Given the description of an element on the screen output the (x, y) to click on. 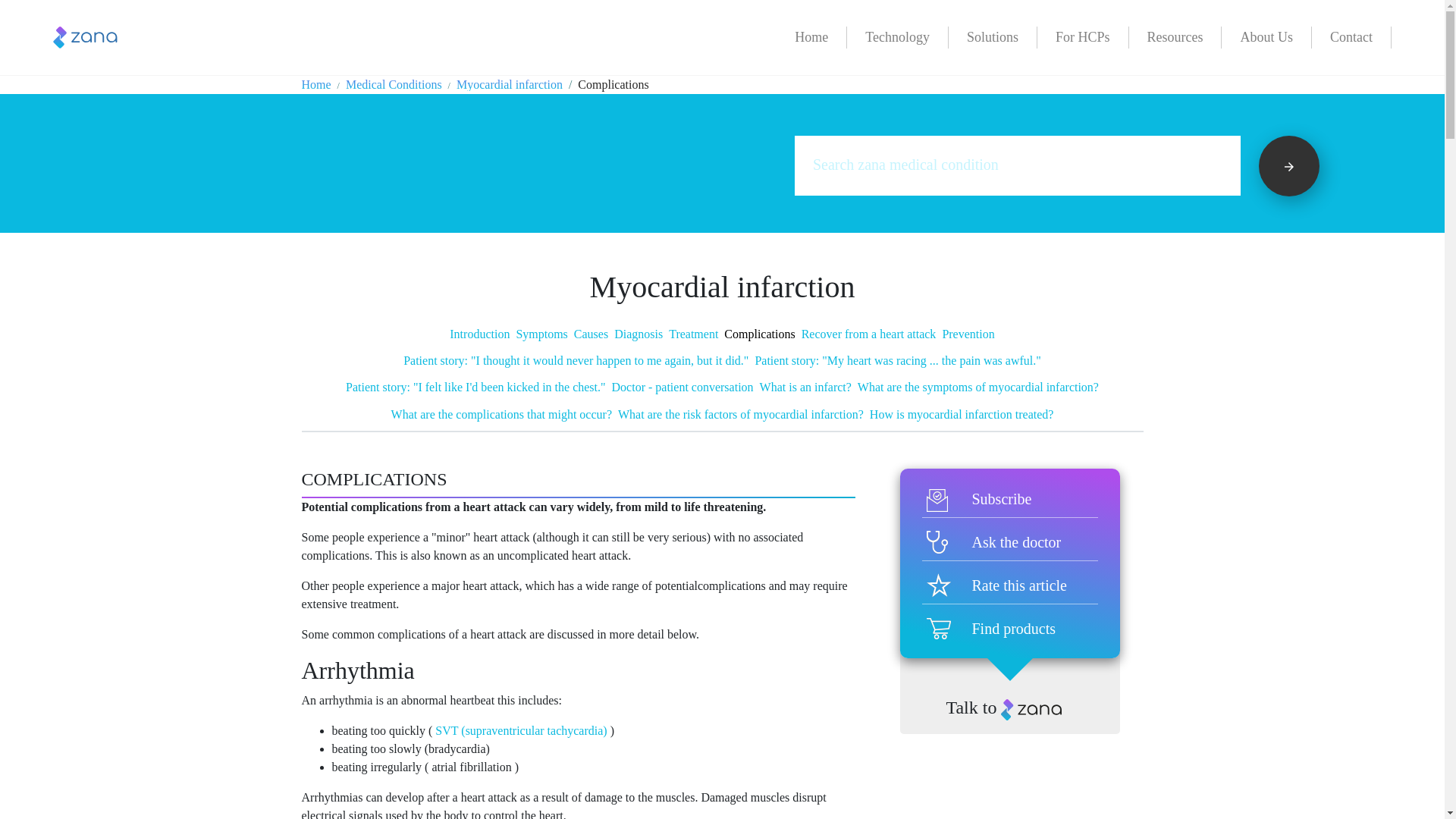
Patient story: "I felt like I'd been kicked in the chest." (475, 386)
Complications (758, 333)
Prevention (968, 333)
Resources (1174, 37)
About Us (1266, 37)
Introduction (479, 333)
Home (316, 83)
Symptoms (541, 333)
What is an infarct? (805, 386)
How is myocardial infarction treated? (961, 413)
What are the risk factors of myocardial infarction? (740, 413)
For HCPs (1082, 37)
Solutions (992, 37)
Contact (1351, 37)
